Given the description of an element on the screen output the (x, y) to click on. 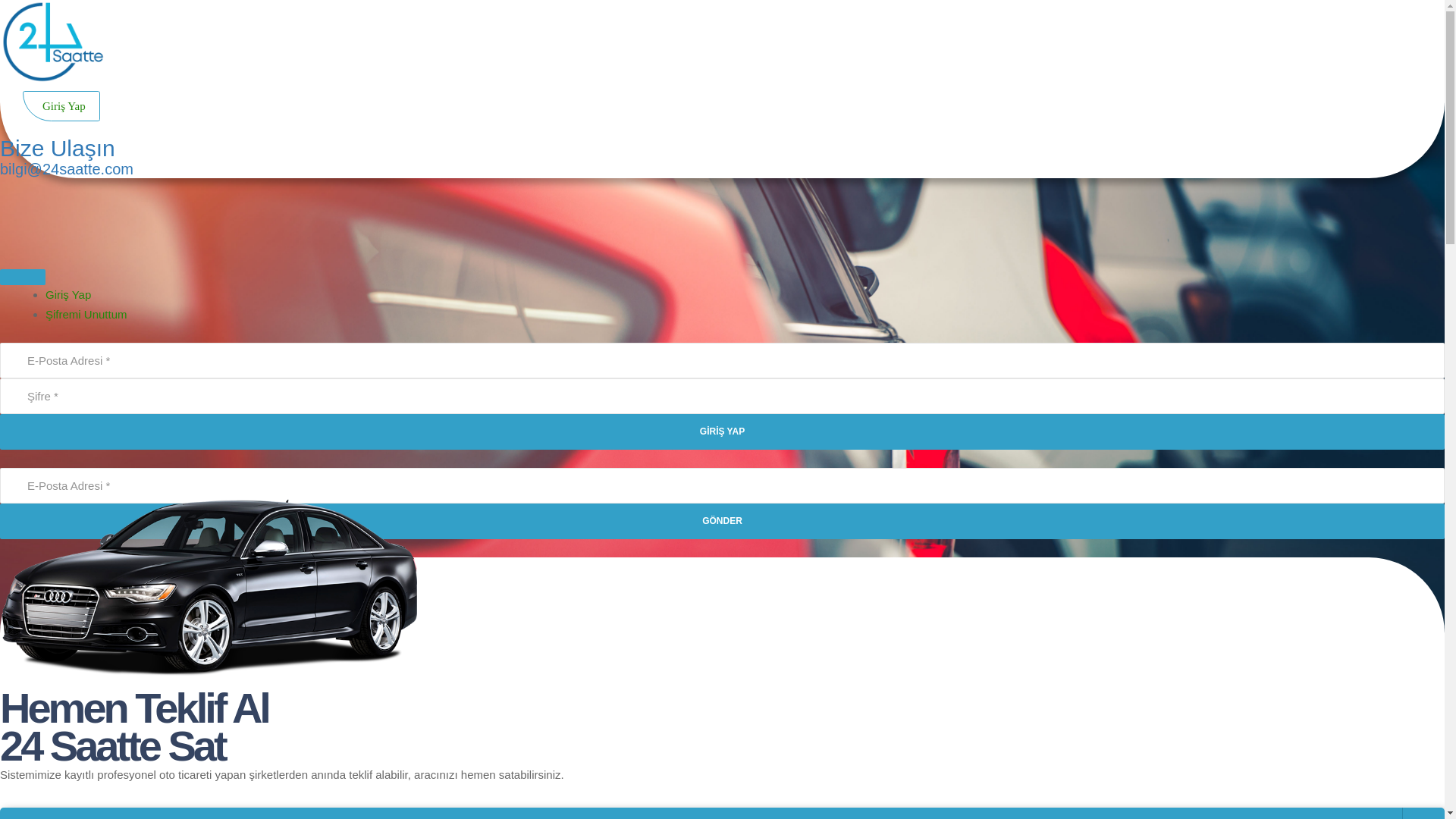
bilgi@24saatte.com Element type: text (66, 168)
